Given the description of an element on the screen output the (x, y) to click on. 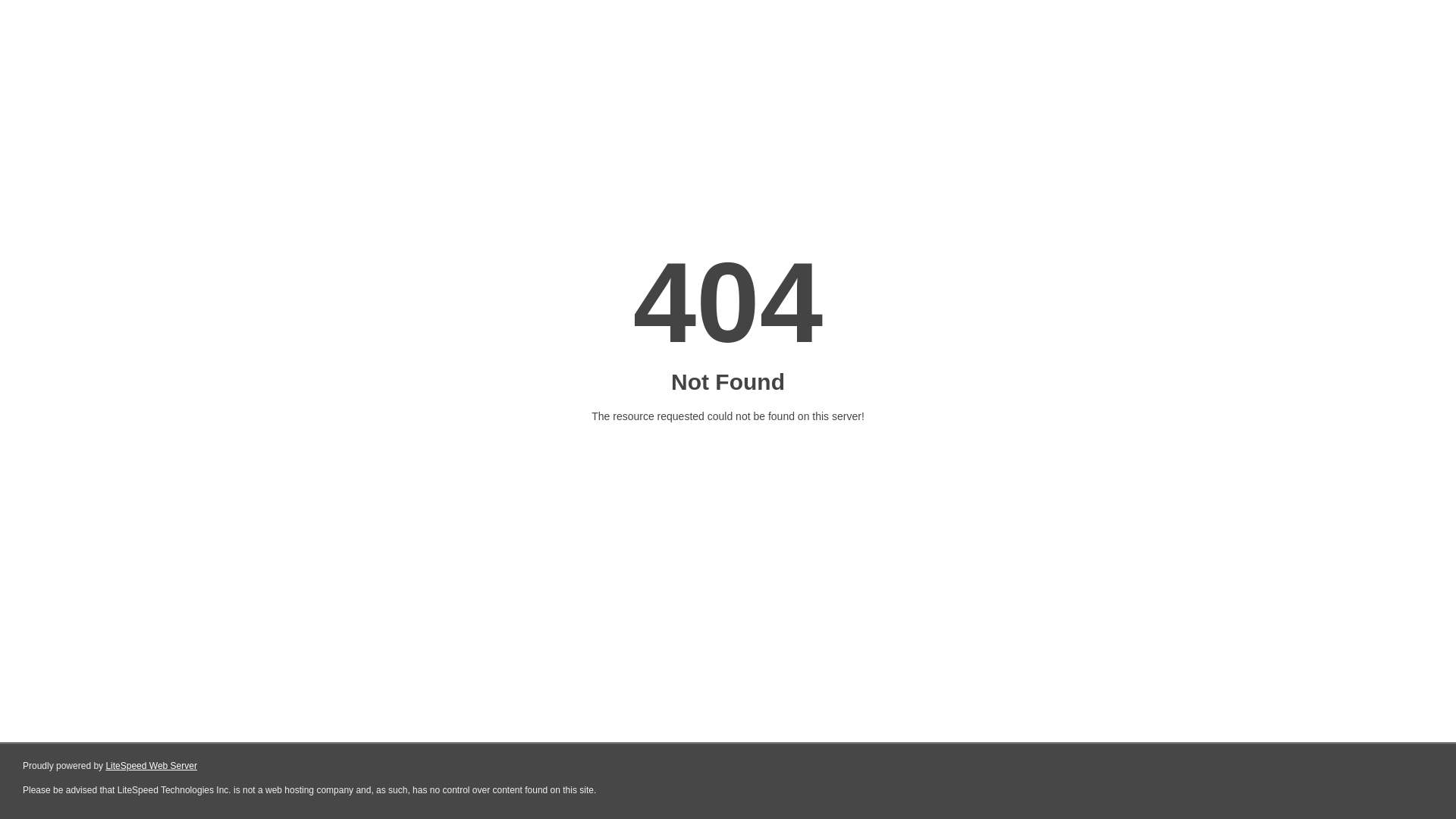
LiteSpeed Web Server Element type: text (151, 765)
